Given the description of an element on the screen output the (x, y) to click on. 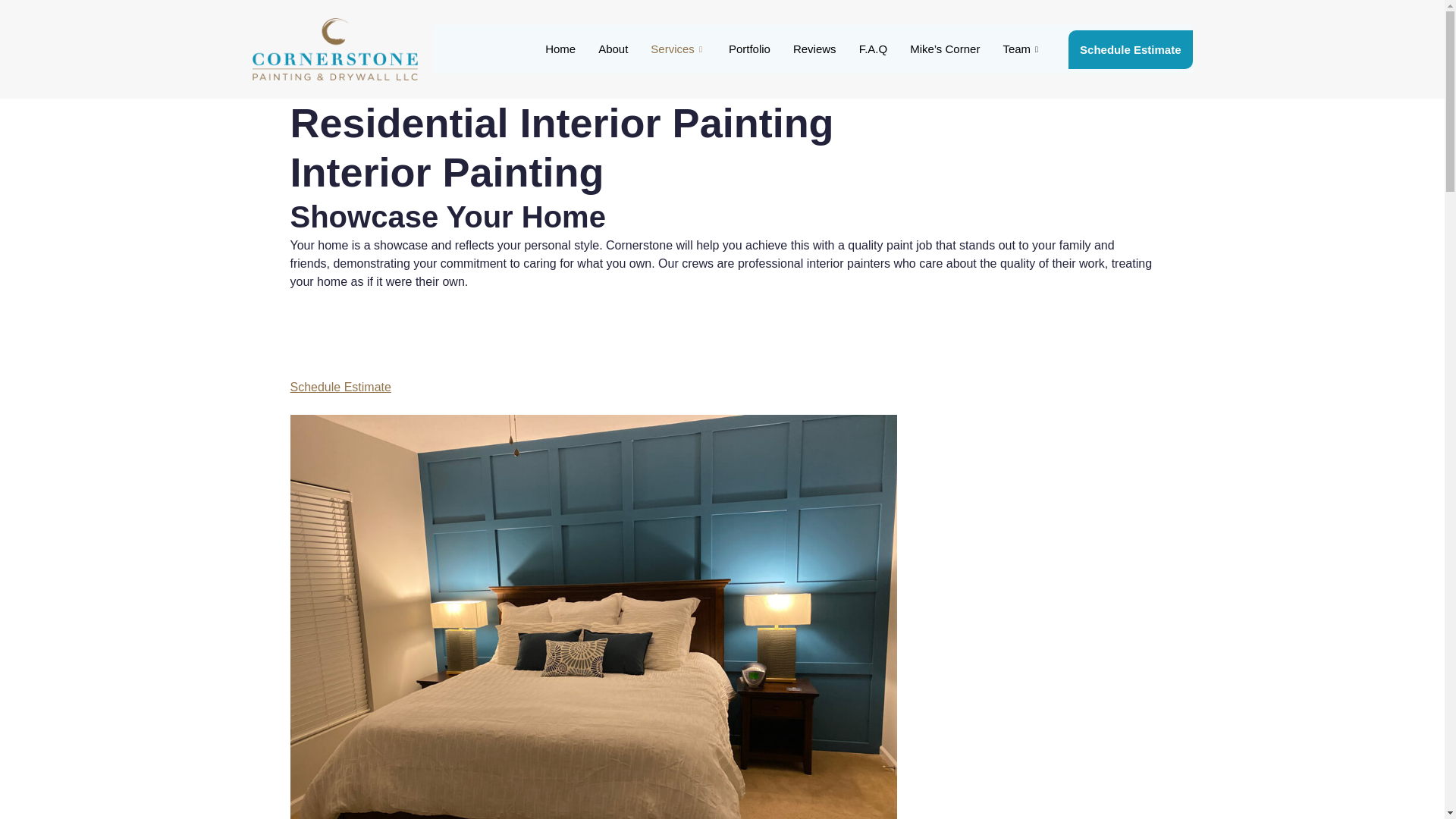
Home (560, 49)
About (612, 49)
F.A.Q (873, 49)
Schedule Estimate (1130, 49)
Services (678, 49)
Reviews (814, 49)
Portfolio (749, 49)
Team (1021, 49)
